Given the description of an element on the screen output the (x, y) to click on. 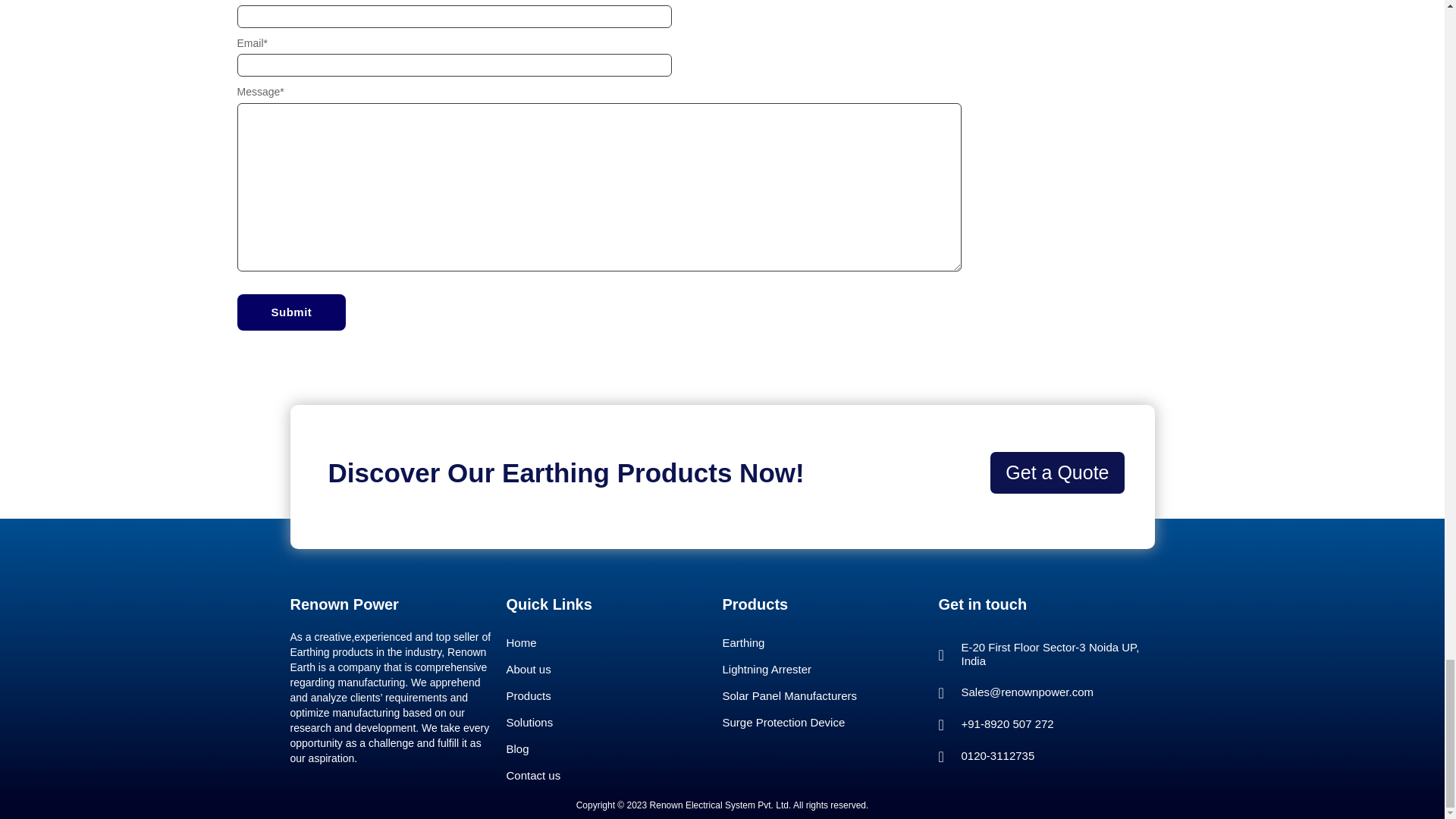
Submit (290, 312)
